Given the description of an element on the screen output the (x, y) to click on. 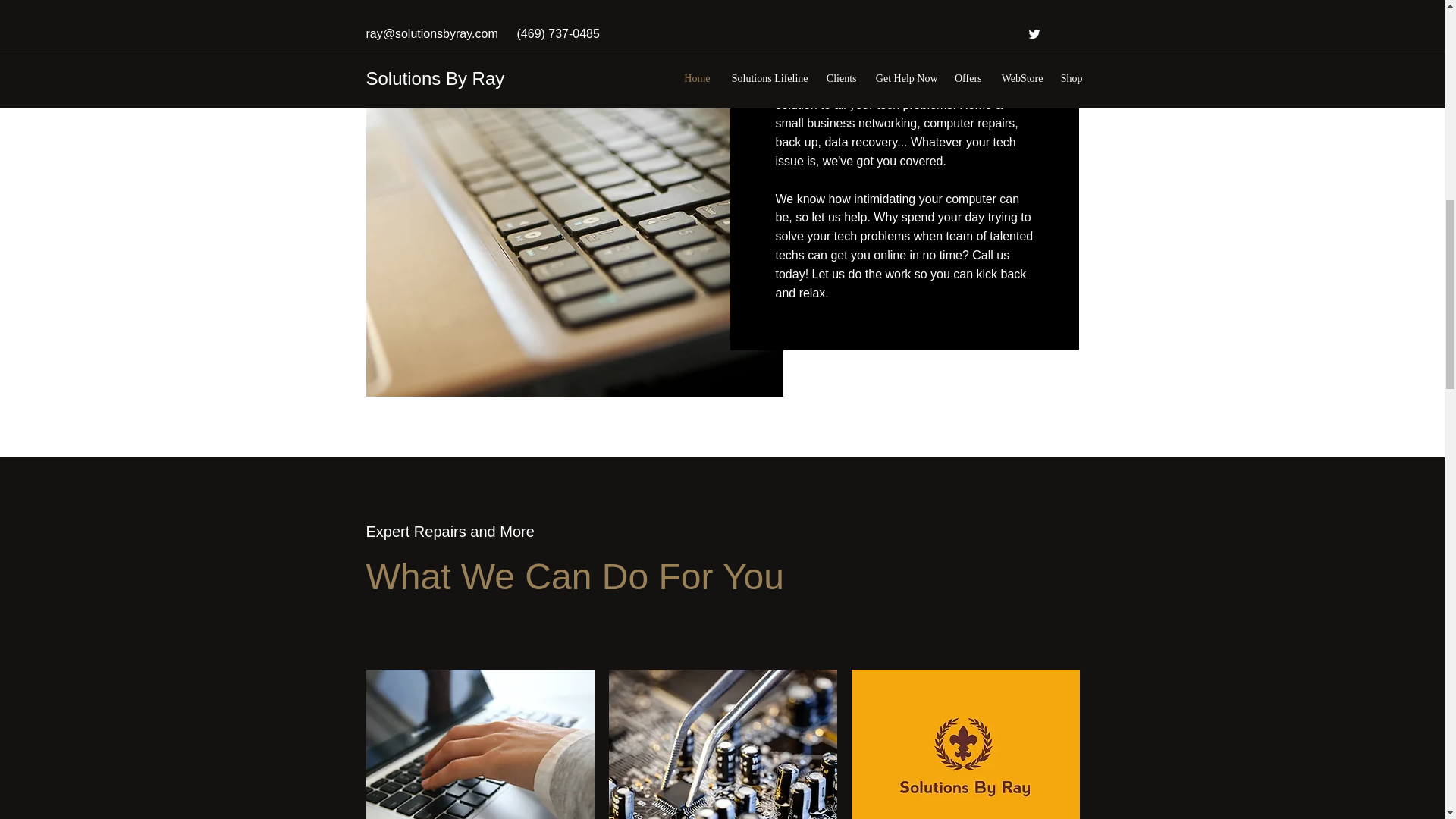
Hand on Laptop  (479, 744)
GL.jpg (964, 744)
Computer Circuit Board Macro (721, 744)
